Given the description of an element on the screen output the (x, y) to click on. 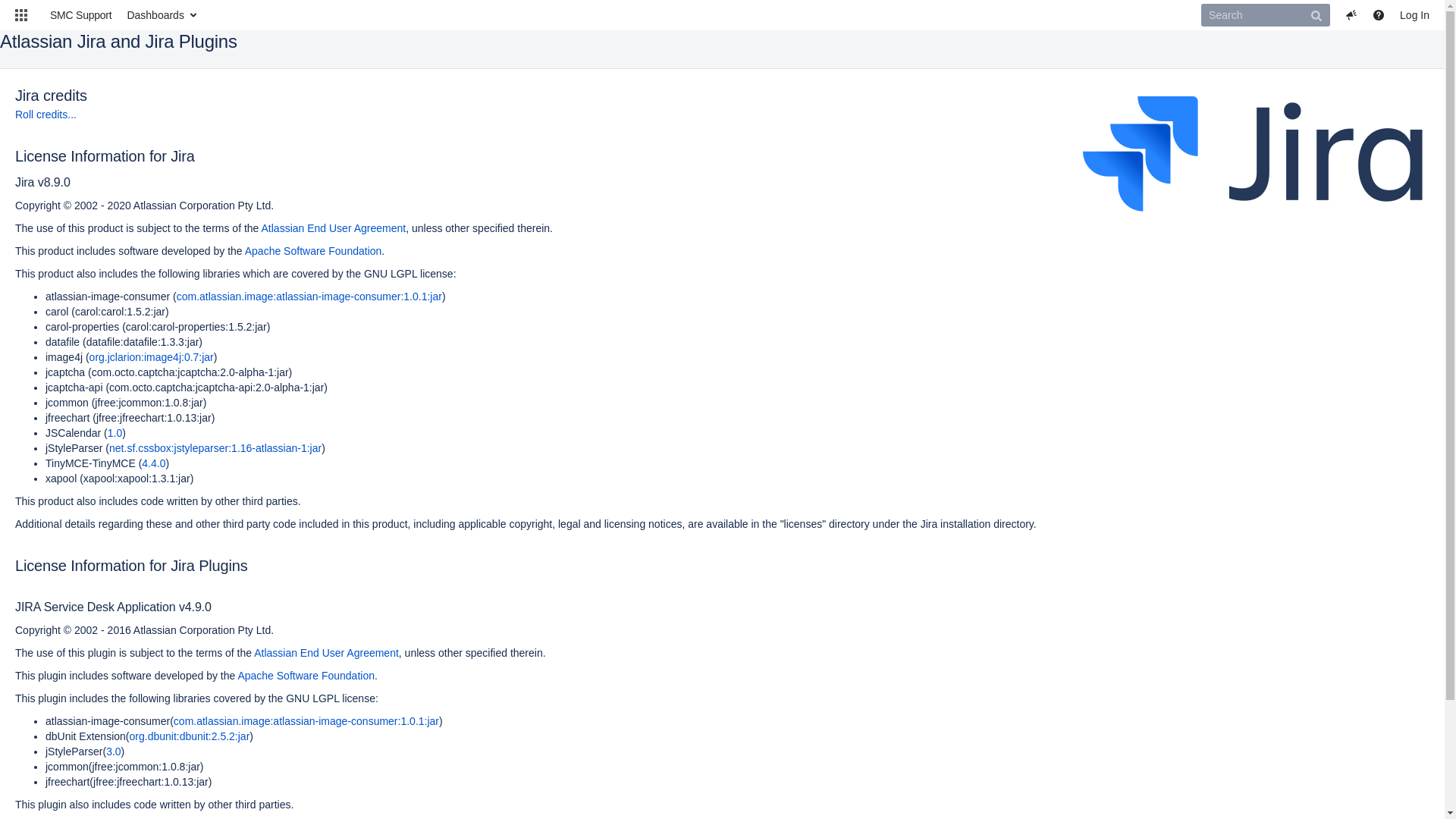
Apache Software Foundation Element type: text (313, 250)
Search ( Type '/' ) Element type: hover (1265, 14)
Dashboards Element type: text (160, 15)
com.atlassian.image:atlassian-image-consumer:1.0.1:jar Element type: text (306, 721)
Atlassian End User Agreement Element type: text (326, 652)
com.atlassian.image:atlassian-image-consumer:1.0.1:jar Element type: text (309, 296)
1.0 Element type: text (114, 432)
net.sf.cssbox:jstyleparser:1.16-atlassian-1:jar Element type: text (215, 448)
Give feedback to Atlassian Element type: text (1351, 15)
SMC Support Element type: text (76, 15)
3.0 Element type: text (113, 751)
org.dbunit:dbunit:2.5.2:jar Element type: text (189, 736)
Atlassian End User Agreement Element type: text (333, 228)
org.jclarion:image4j:0.7:jar Element type: text (151, 357)
Roll credits... Element type: text (45, 114)
4.4.0 Element type: text (153, 463)
Log In Element type: text (1414, 15)
Linked Applications Element type: text (20, 15)
Help Element type: text (1378, 15)
Apache Software Foundation Element type: text (305, 675)
